Given the description of an element on the screen output the (x, y) to click on. 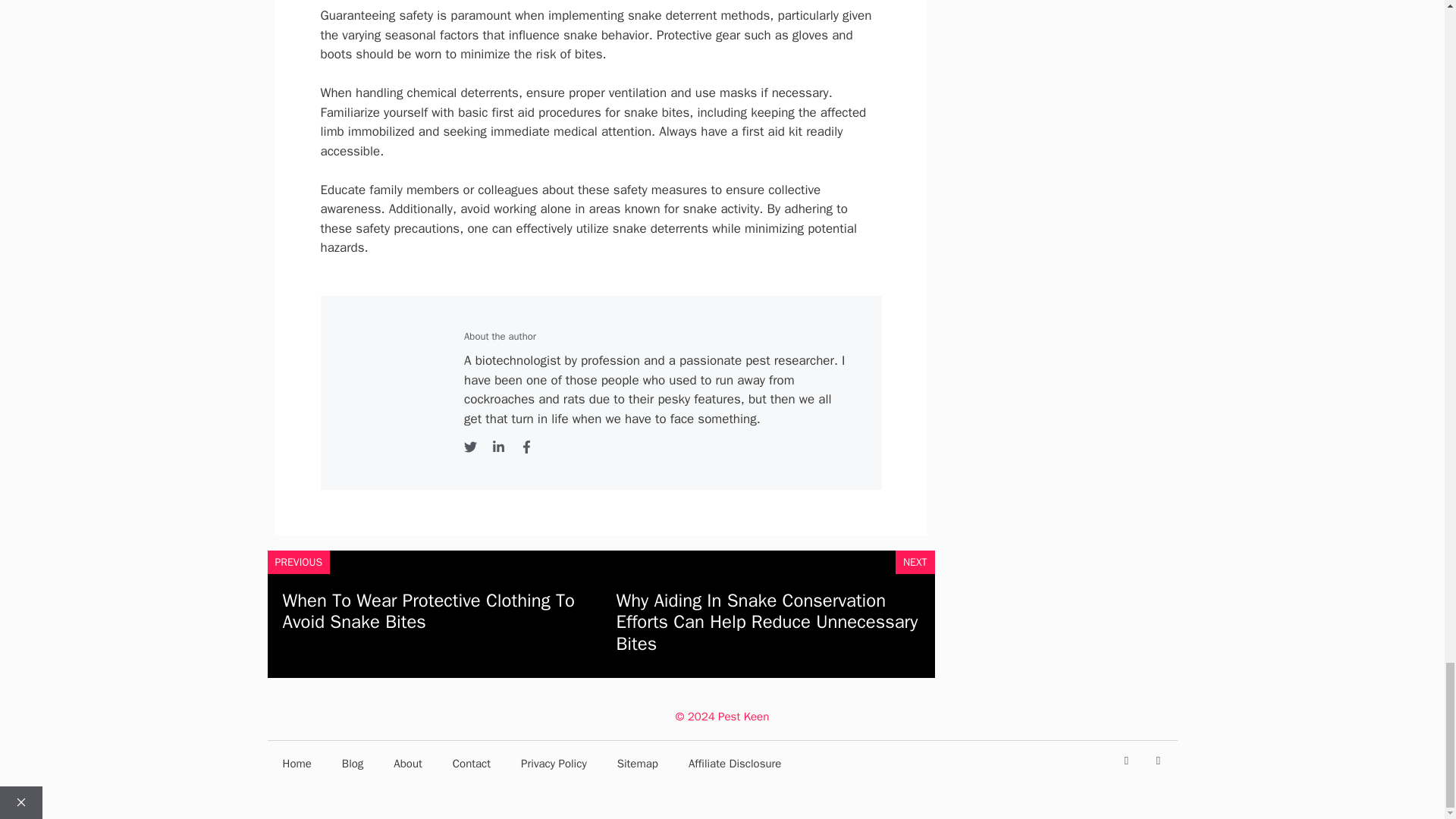
When To Wear Protective Clothing To Avoid Snake Bites (427, 610)
